Given the description of an element on the screen output the (x, y) to click on. 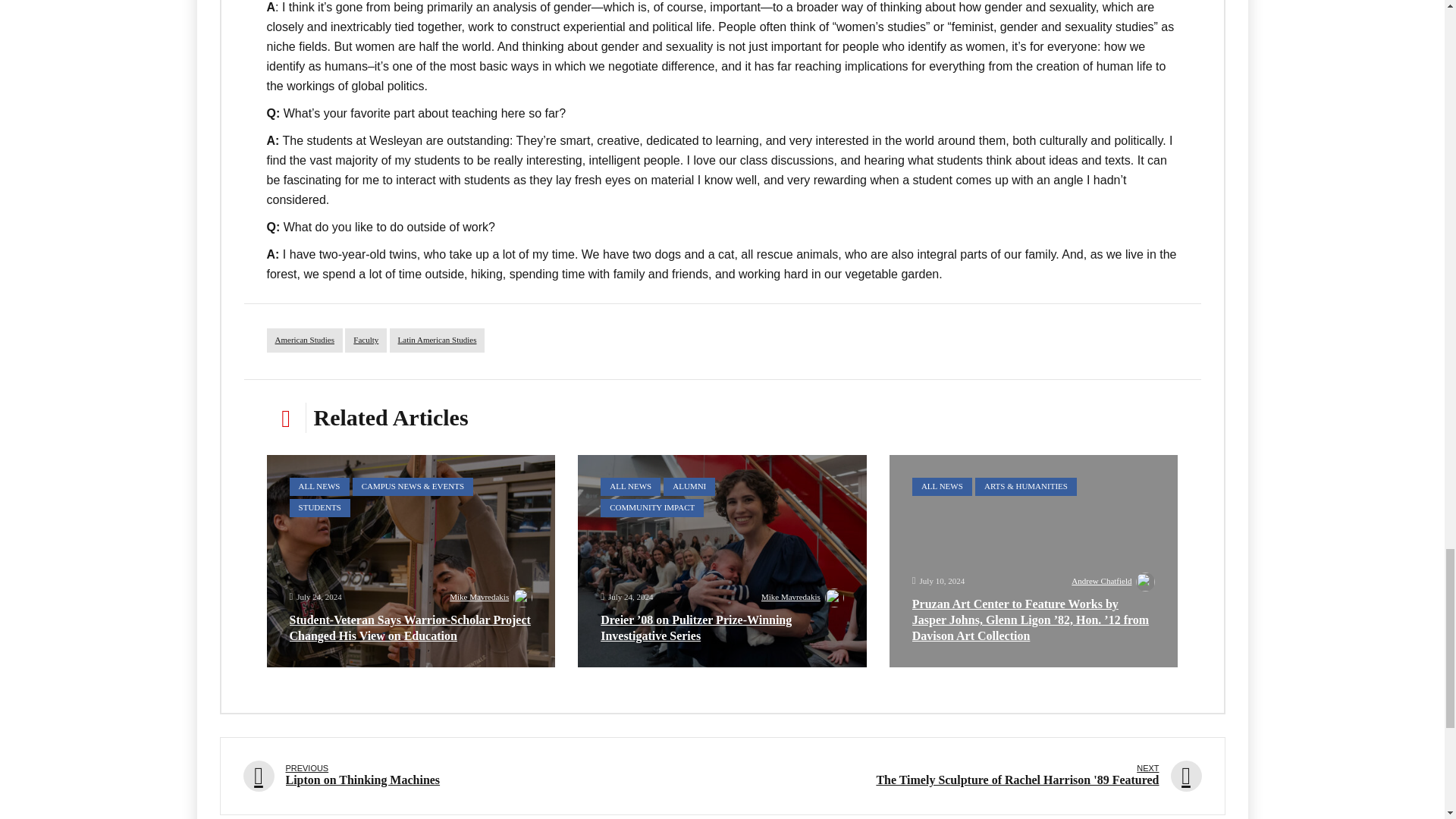
Mike Mavredakis (490, 598)
ALL NEWS (942, 486)
ALUMNI (688, 486)
Latin American Studies (437, 340)
ALL NEWS (630, 486)
Faculty (366, 340)
COMMUNITY IMPACT (651, 507)
Mike Mavredakis (802, 598)
American Studies (304, 340)
STUDENTS (319, 507)
ALL NEWS (319, 486)
Andrew Chatfield (1112, 582)
